Given the description of an element on the screen output the (x, y) to click on. 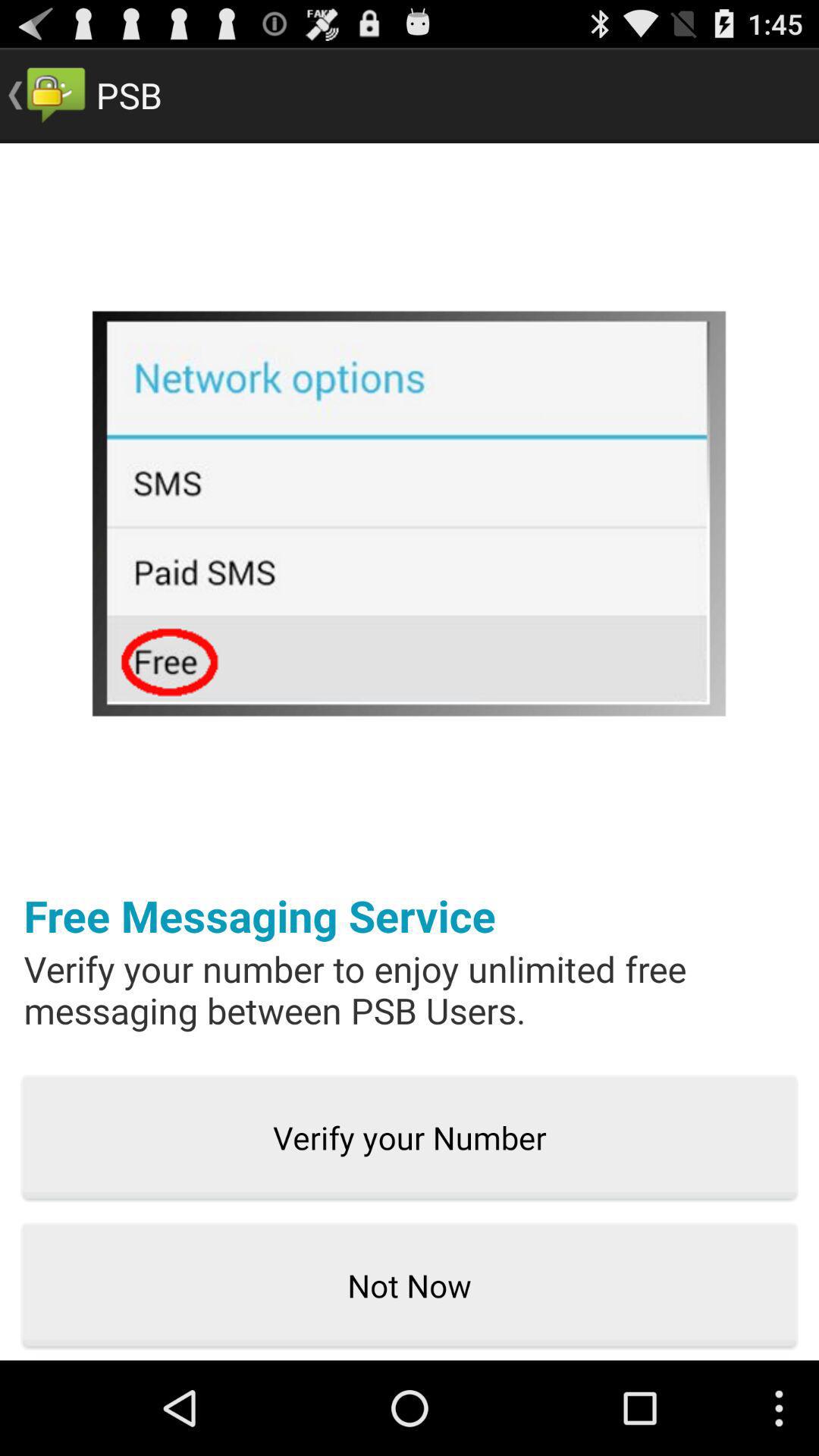
launch button below verify your number icon (409, 1286)
